Given the description of an element on the screen output the (x, y) to click on. 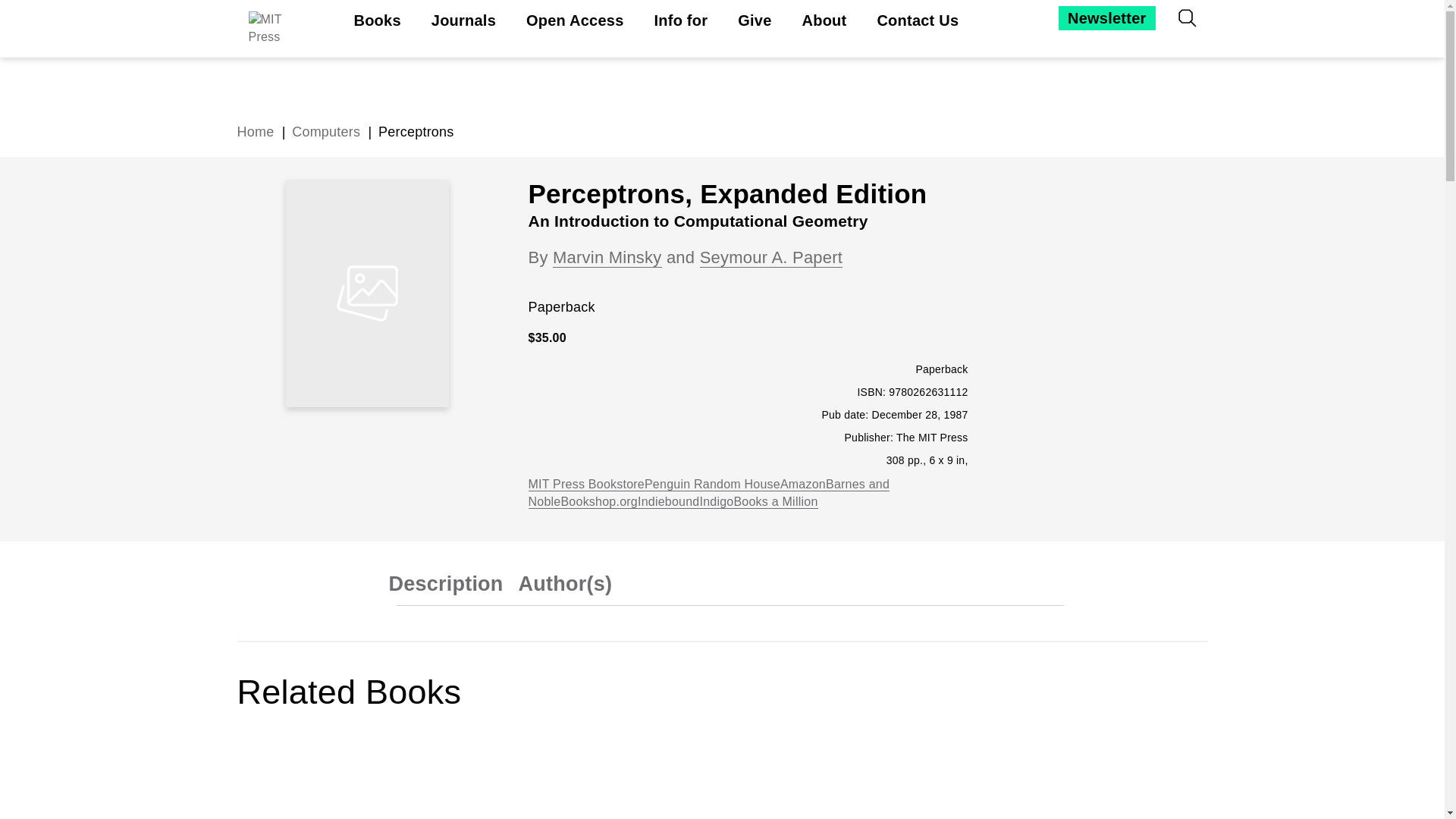
Open Access (574, 21)
View results for computers (325, 131)
Back to homepage (254, 131)
Books (376, 21)
Journals (463, 21)
Newsletter (1106, 17)
